Given the description of an element on the screen output the (x, y) to click on. 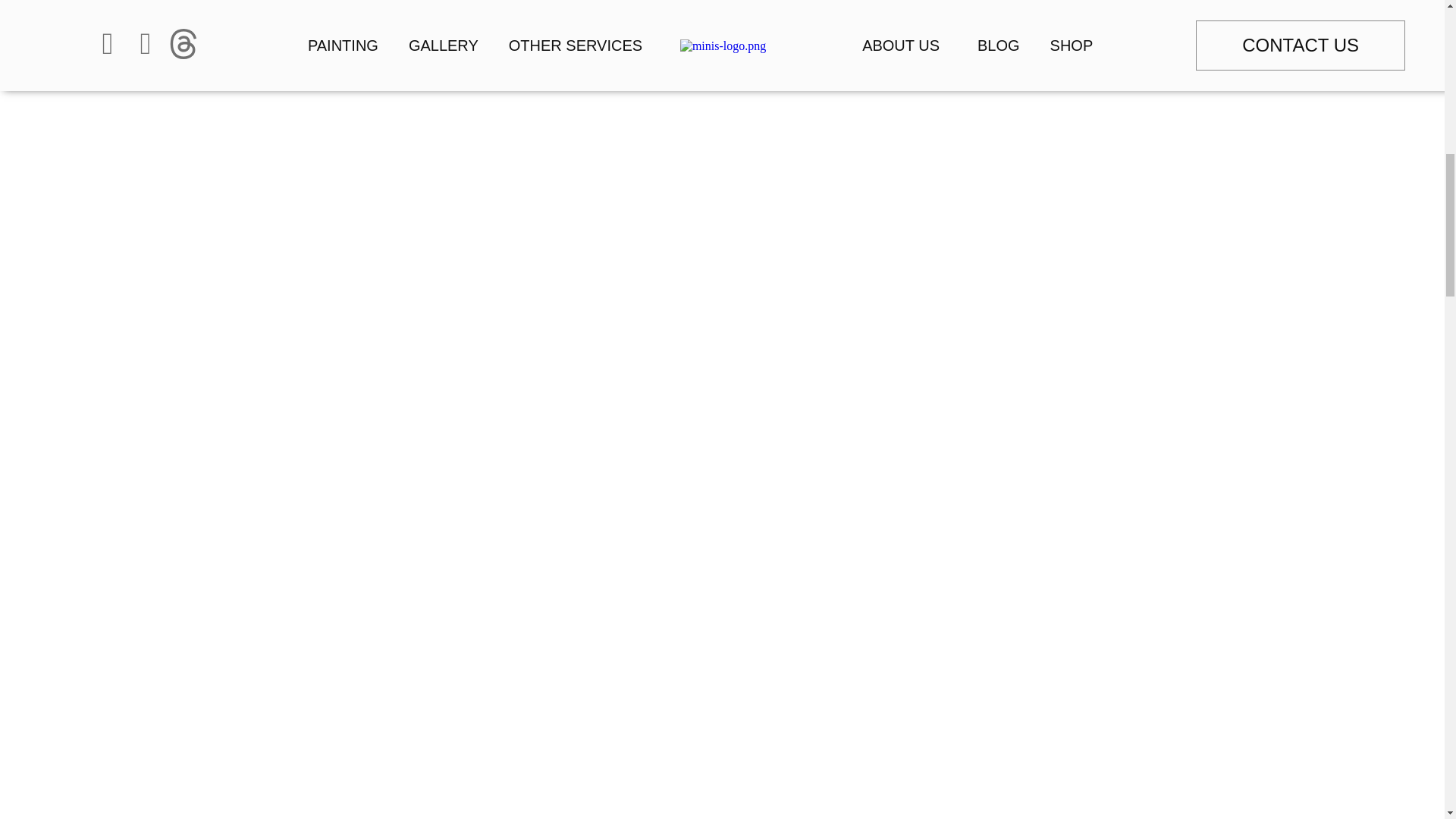
available for purchase (613, 20)
